Given the description of an element on the screen output the (x, y) to click on. 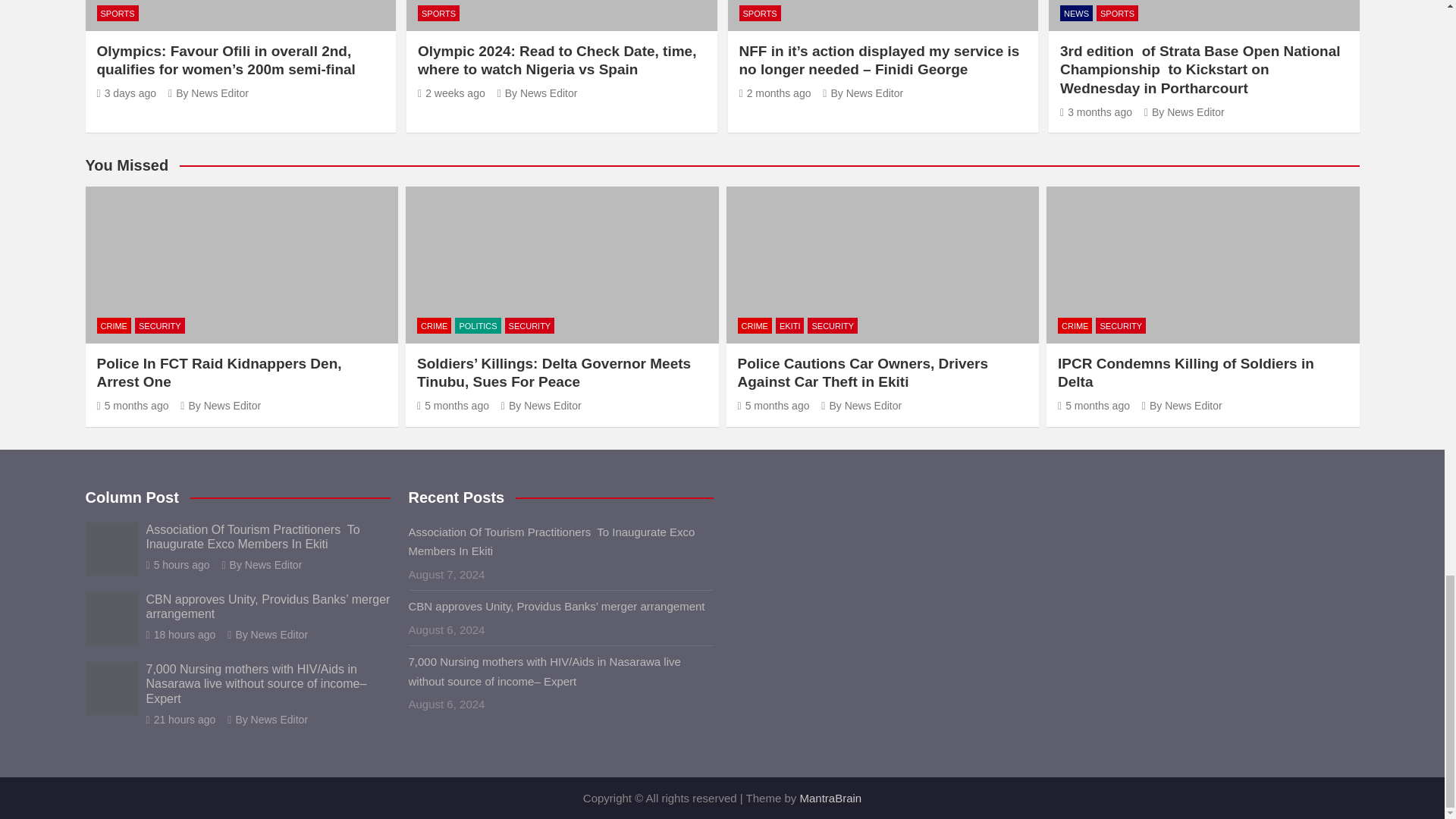
Police In FCT Raid Kidnappers Den, Arrest One (132, 405)
